Given the description of an element on the screen output the (x, y) to click on. 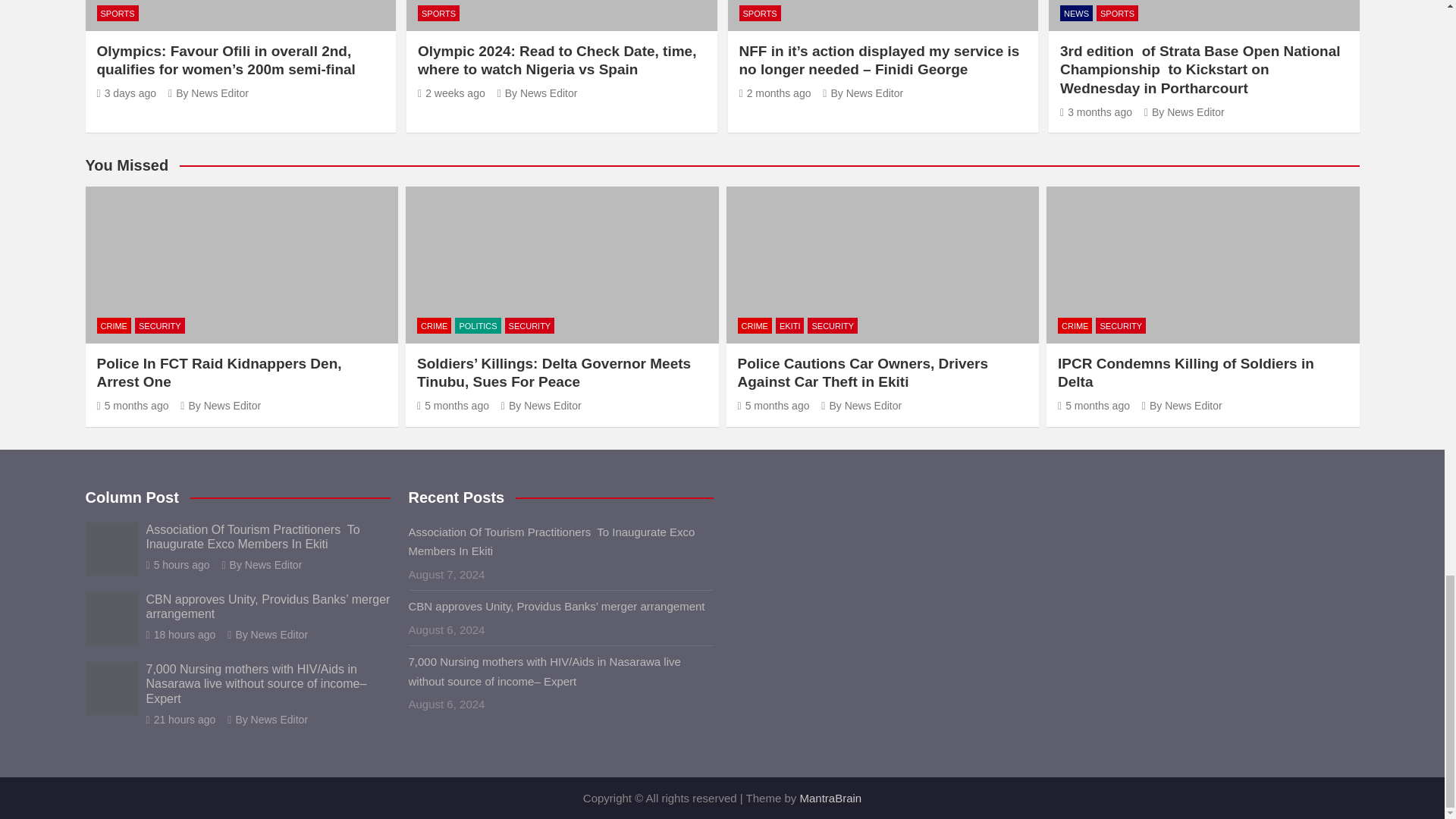
Police In FCT Raid Kidnappers Den, Arrest One (132, 405)
